Given the description of an element on the screen output the (x, y) to click on. 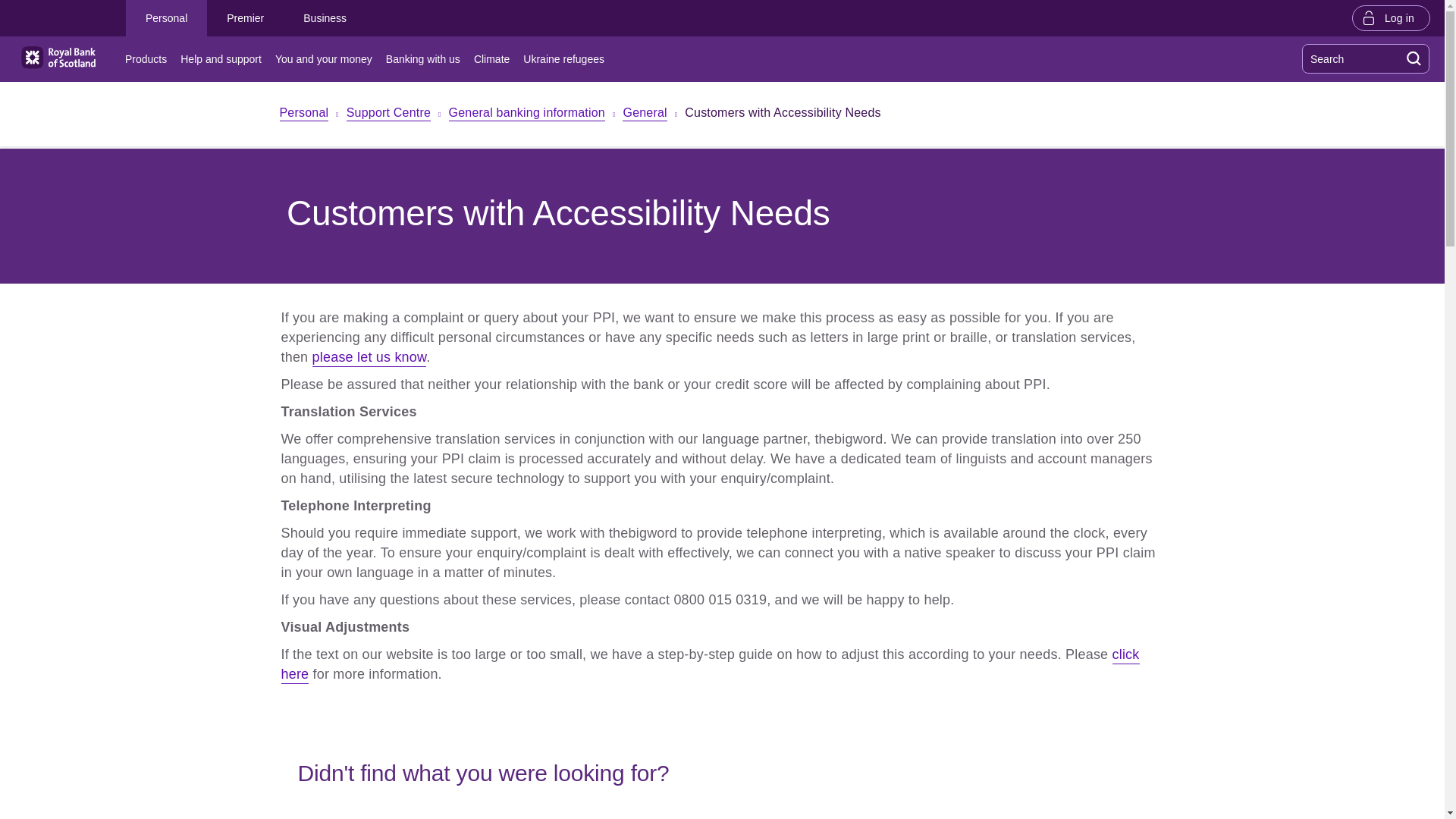
Products (149, 58)
Support Centre (388, 114)
Log in (1390, 17)
Royal Bank of Scotland (57, 58)
General banking information (526, 114)
Business (324, 18)
Customers with Accessibility Needs (782, 115)
General (644, 114)
Personal (165, 18)
